Given the description of an element on the screen output the (x, y) to click on. 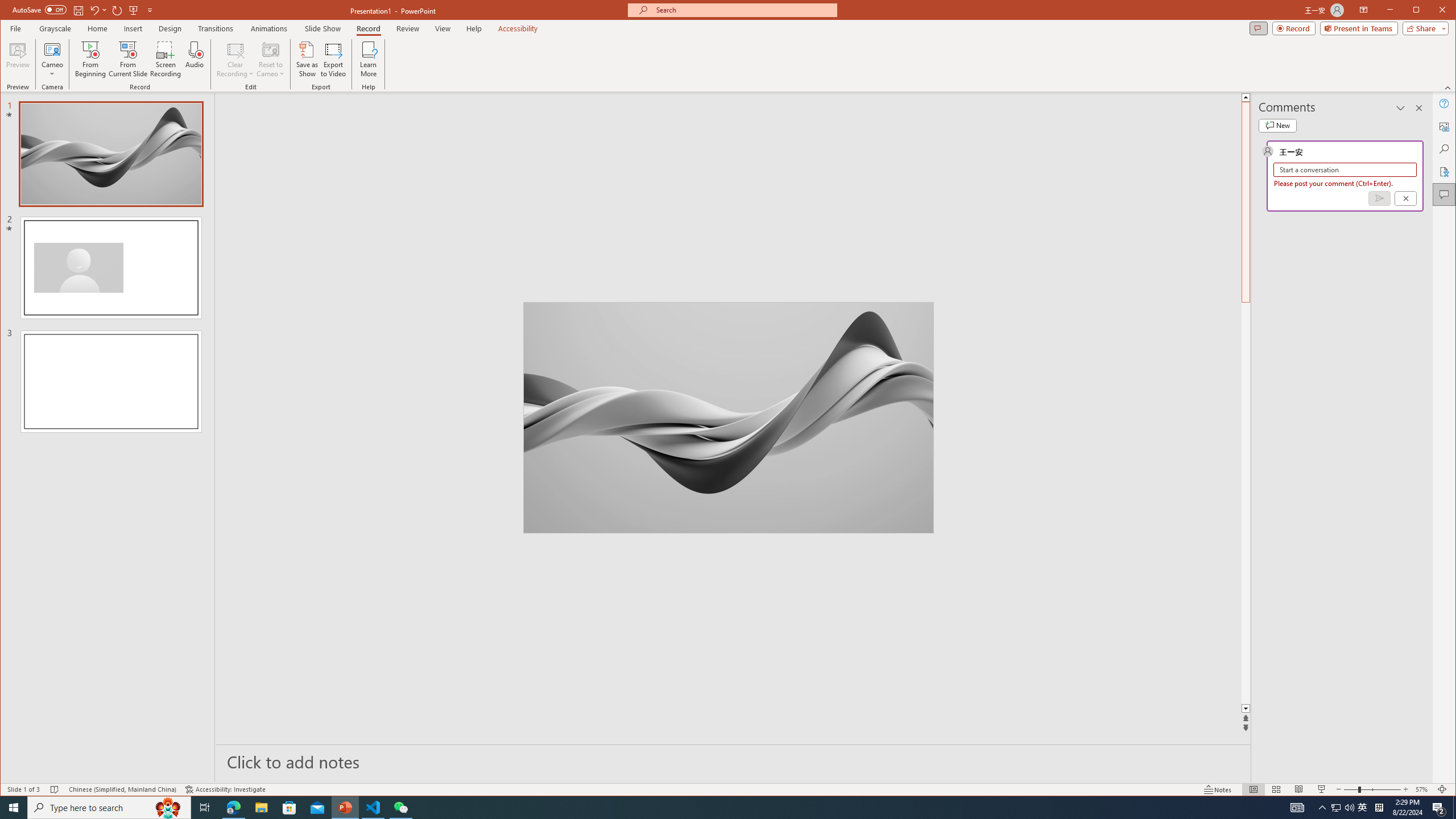
Save as Show (307, 59)
Reset to Cameo (269, 59)
Post comment (Ctrl + Enter) (1379, 197)
Screen Recording (165, 59)
